Given the description of an element on the screen output the (x, y) to click on. 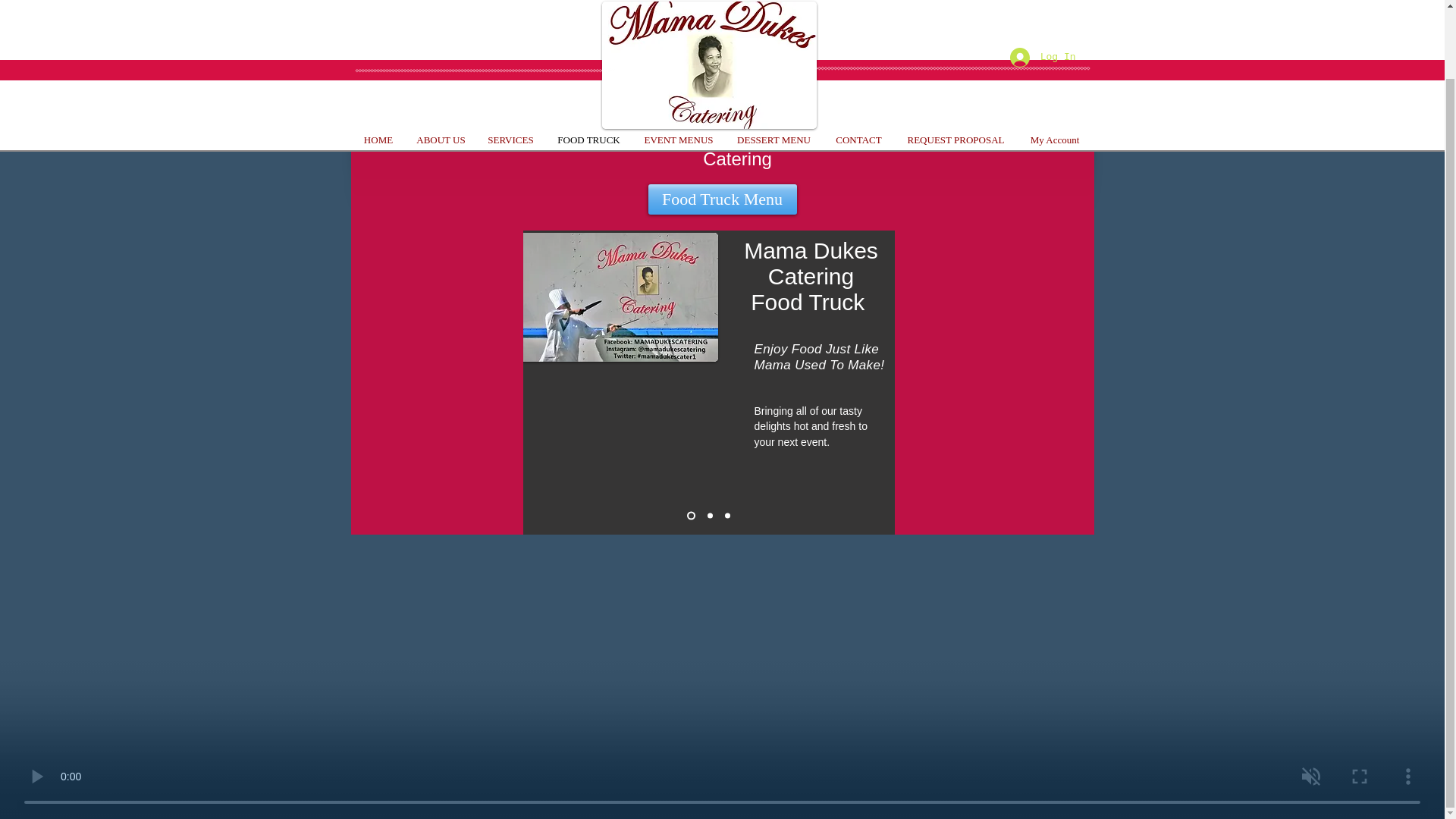
FOOD TRUCK (587, 64)
EVENT MENUS (677, 64)
DESSERT MENU (774, 64)
Food Truck Menu (721, 199)
HOME (379, 64)
CONTACT (859, 64)
SERVICES (510, 64)
REQUEST PROPOSAL (956, 64)
ABOUT US (440, 64)
Mama Dukes Logo Site2.jpg (709, 26)
My Account (1055, 64)
